Given the description of an element on the screen output the (x, y) to click on. 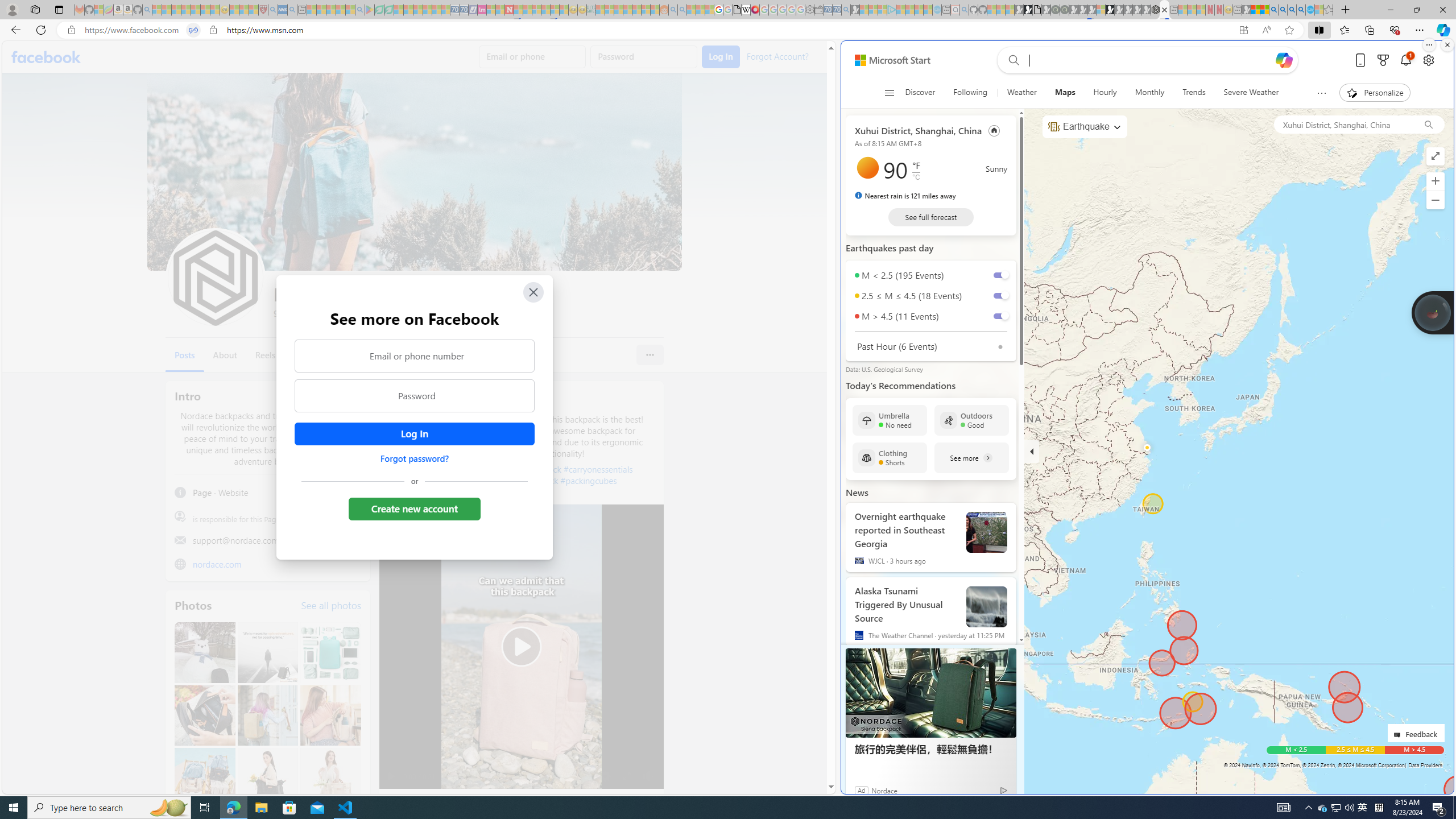
Hourly (1104, 92)
Workspaces (34, 9)
App available. Install  (1243, 29)
Target page - Wikipedia (745, 9)
Hourly (1104, 92)
Show more topics (1321, 92)
DITOGAMES AG Imprint - Sleeping (590, 9)
Wallet - Sleeping (818, 9)
Trends (1193, 92)
Sign in to your account - Sleeping (1100, 9)
